Given the description of an element on the screen output the (x, y) to click on. 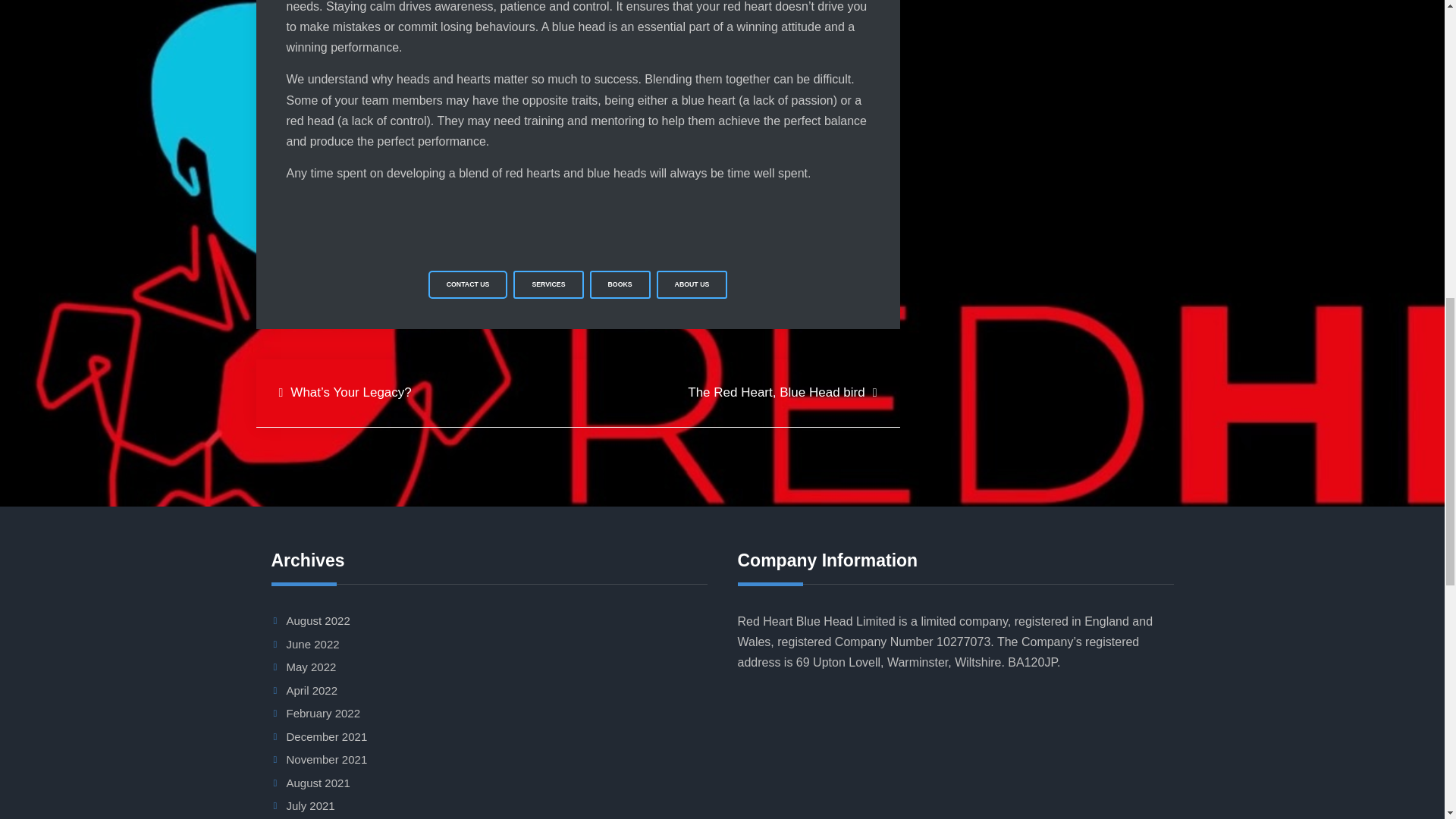
June 2022 (312, 644)
November 2021 (327, 758)
August 2022 (318, 620)
CONTACT US (468, 284)
February 2022 (323, 712)
ABOUT US (692, 284)
April 2022 (311, 689)
BOOKS (619, 284)
SERVICES (548, 284)
May 2022 (311, 666)
